Given the description of an element on the screen output the (x, y) to click on. 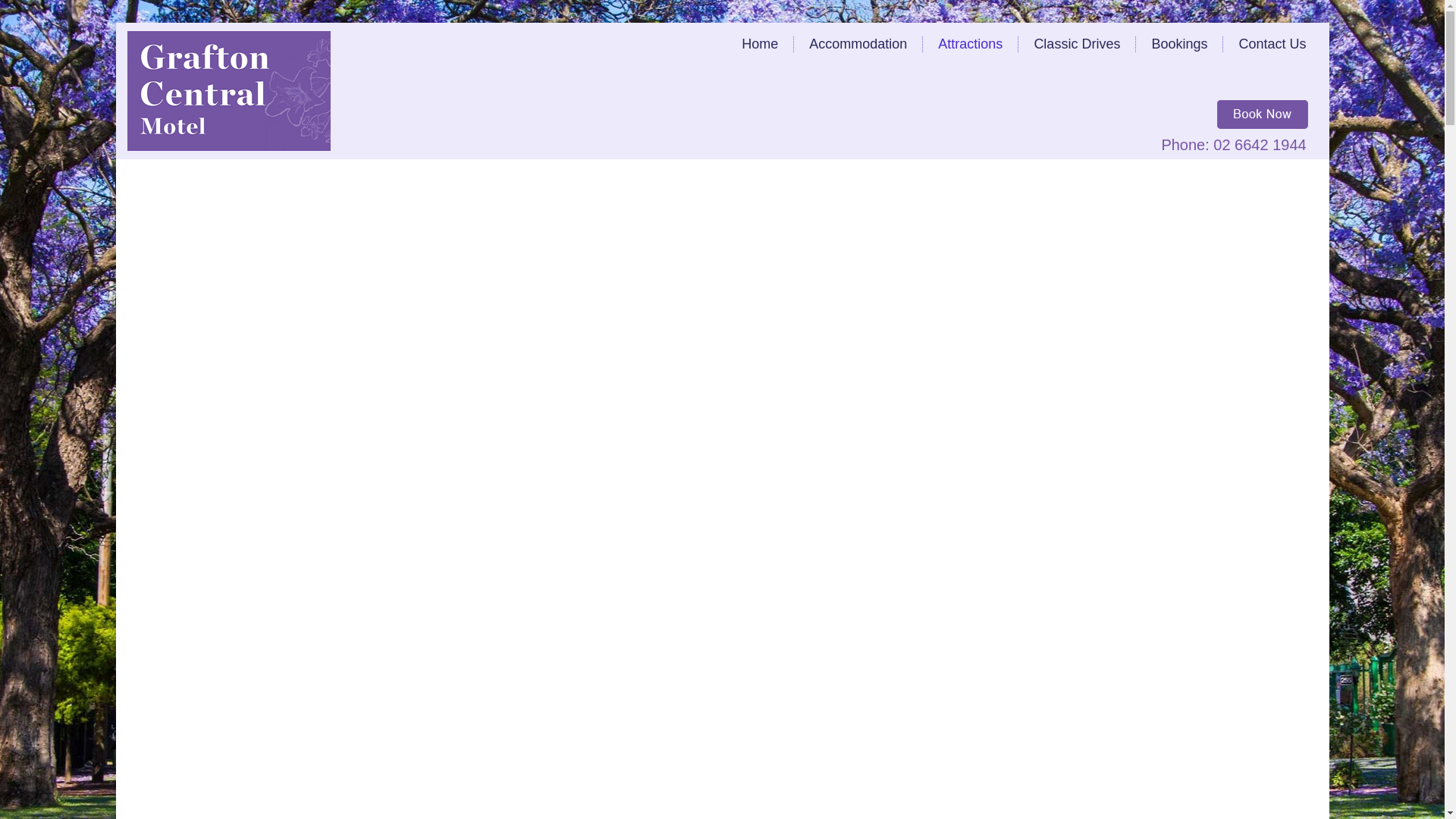
Contact Us Element type: text (1271, 43)
Accommodation Element type: text (857, 43)
Classic Drives Element type: text (1076, 43)
Bookings Element type: text (1178, 43)
Attractions Element type: text (969, 43)
Home Element type: text (759, 43)
